Given the description of an element on the screen output the (x, y) to click on. 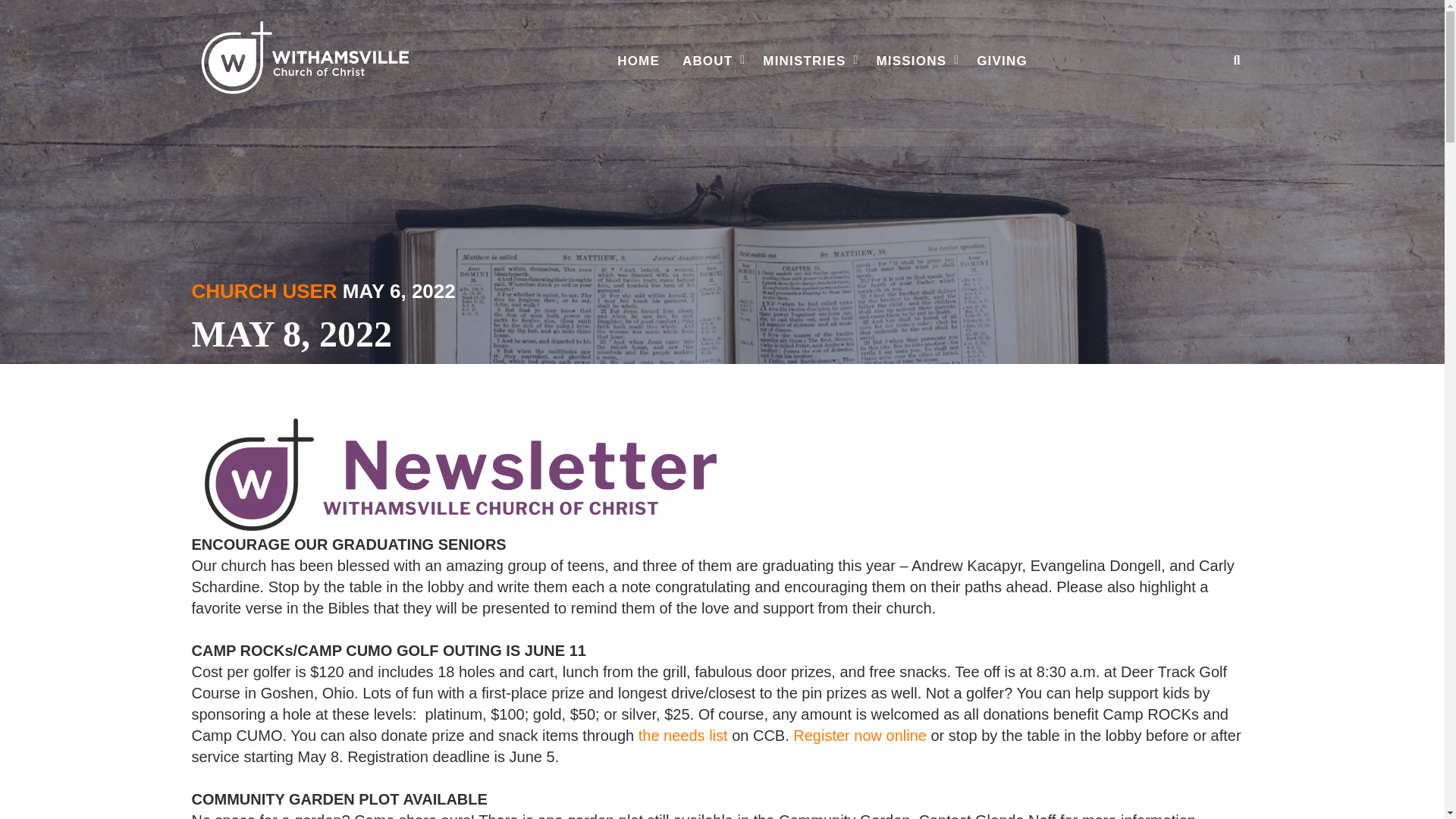
ABOUT (711, 61)
MISSIONS (915, 61)
CHURCH USER (263, 291)
Register now online (859, 735)
GIVING (1002, 61)
Search (1221, 116)
MINISTRIES (807, 61)
the needs list (683, 735)
HOME (638, 61)
